Given the description of an element on the screen output the (x, y) to click on. 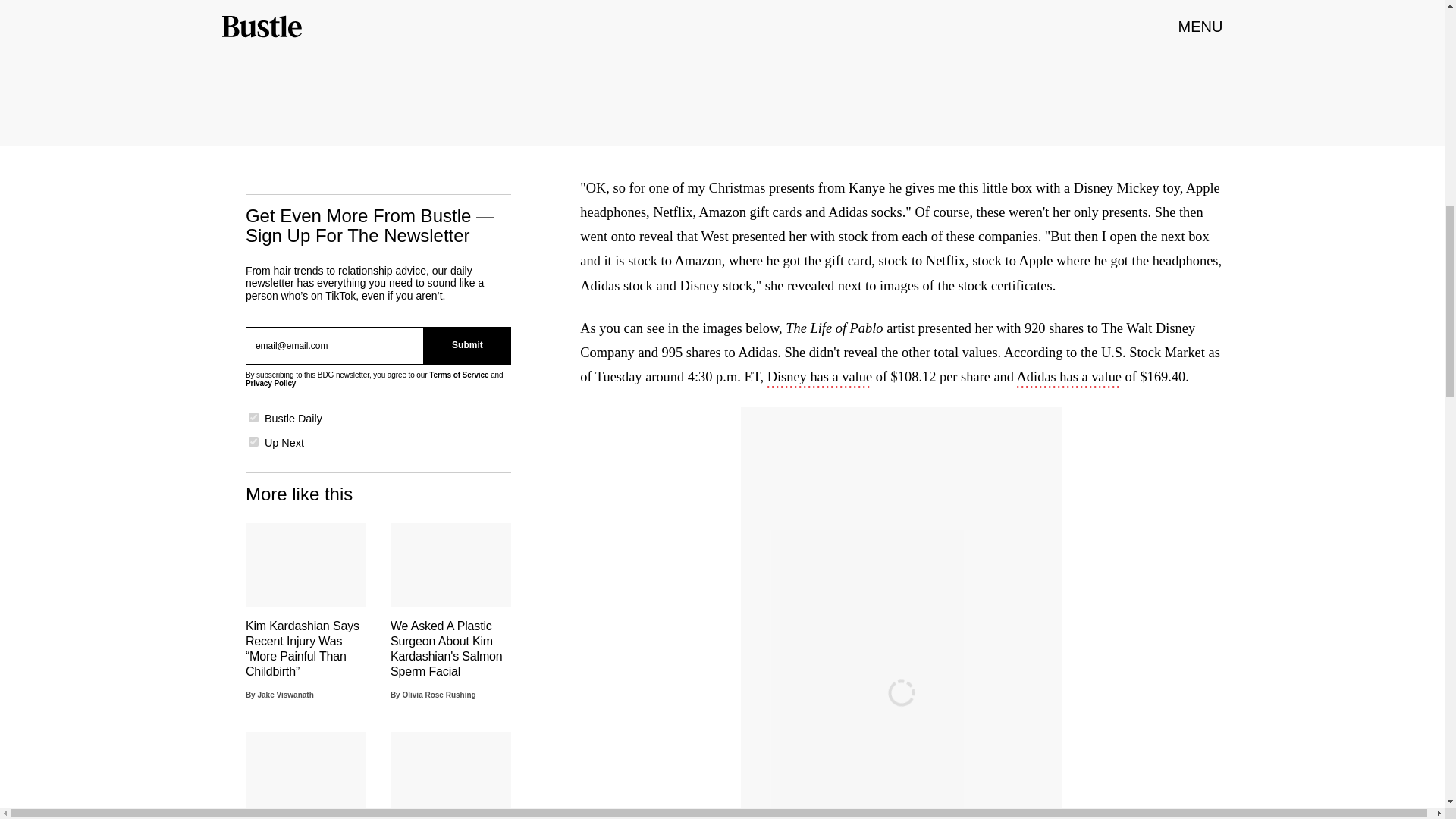
Submit (467, 345)
Adidas has a value (1068, 378)
Disney has a value (819, 378)
Terms of Service (458, 375)
Privacy Policy (270, 383)
